Given the description of an element on the screen output the (x, y) to click on. 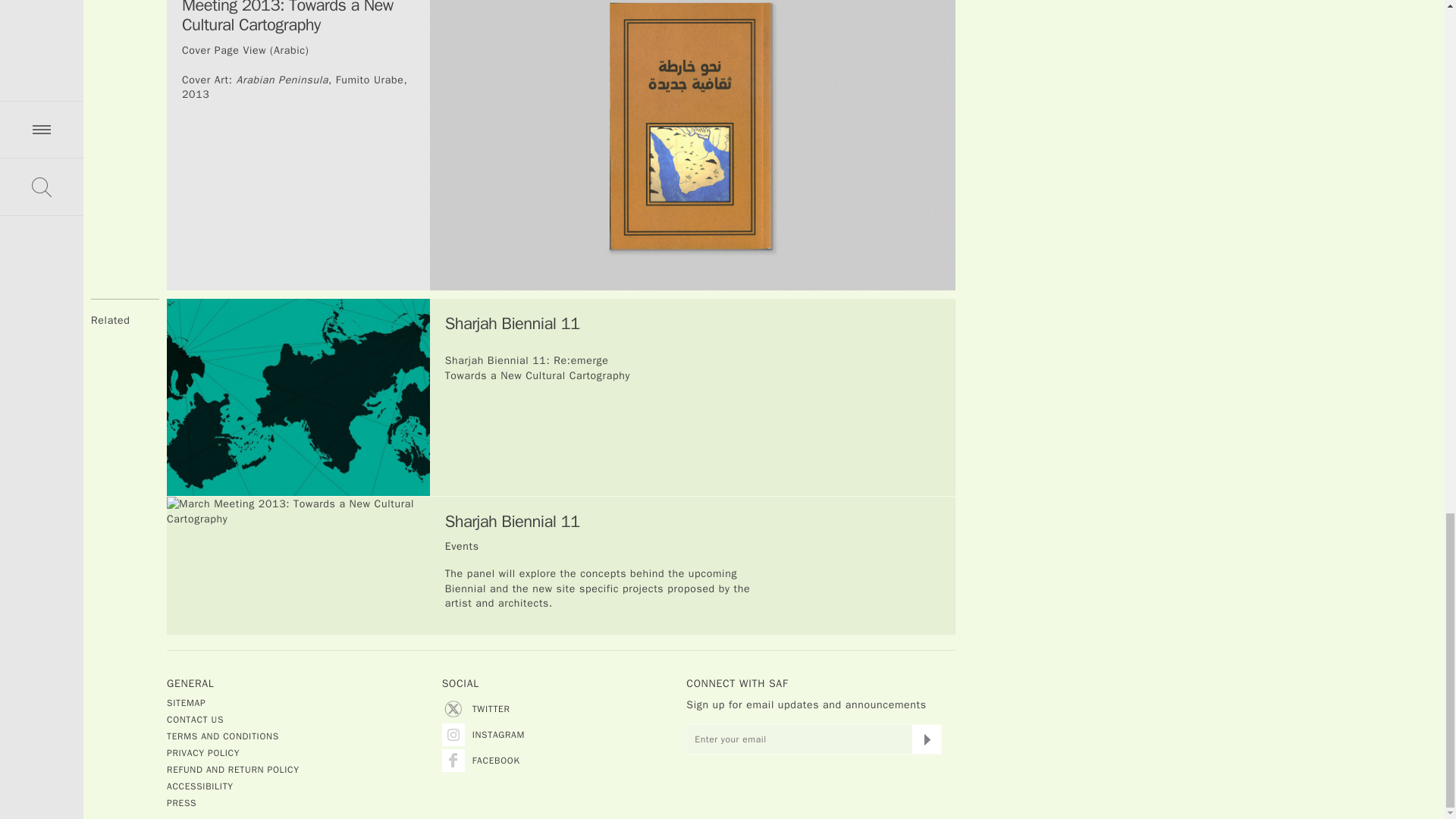
Sharjah Biennial 11 (512, 521)
Sharjah Biennial 11 (512, 323)
March Meeting 2013: Towards a New Cultural Cartography (298, 565)
March Meeting 2013: Towards a New Cultural Cartography (298, 397)
Subscribe (926, 738)
Events (462, 545)
